Given the description of an element on the screen output the (x, y) to click on. 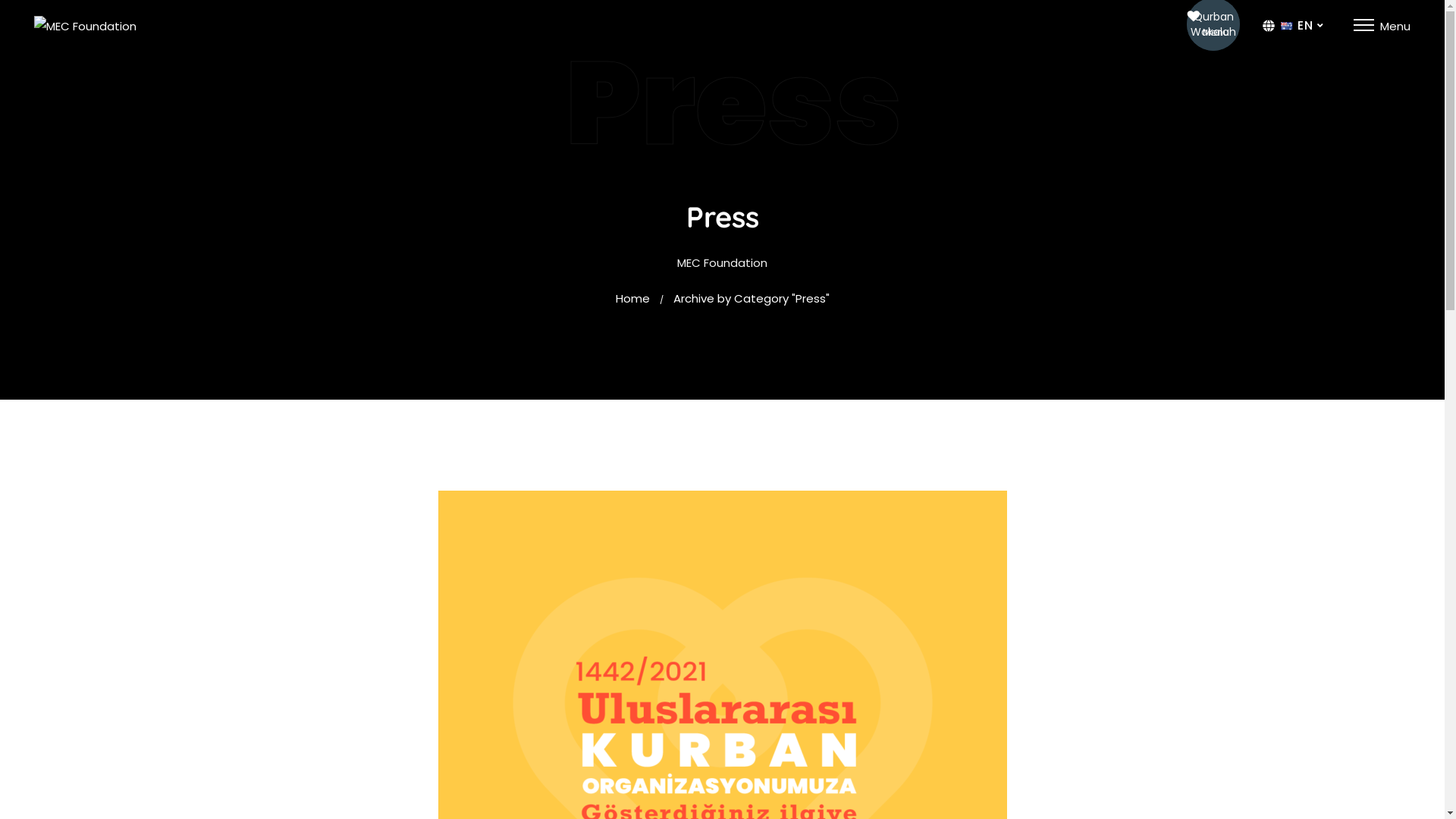
Home Element type: text (632, 298)
